Given the description of an element on the screen output the (x, y) to click on. 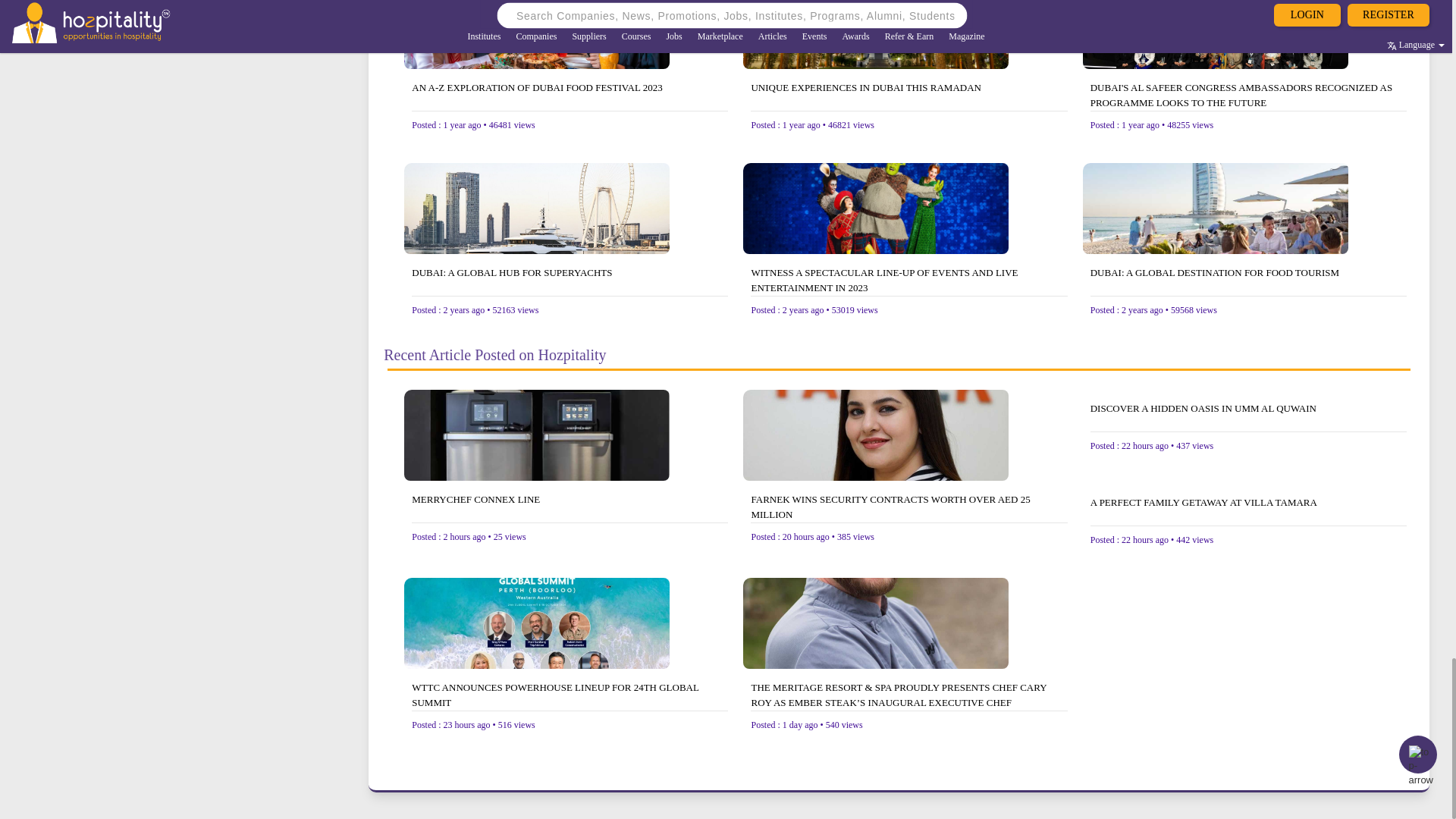
Discover a Hidden Oasis in Umm Al Quwain (1248, 416)
Farnek Wins Security Contracts Worth Over AED 25 Million (909, 507)
An A-Z Exploration of Dubai Food Festival 2023 (570, 95)
Dubai: A Global Destination for Food Tourism (1248, 280)
MERRYCHEF CONNEX LINE (570, 507)
Unique Experiences in Dubai this Ramadan (909, 95)
Dubai: A Global Hub for Superyachts (570, 280)
